Given the description of an element on the screen output the (x, y) to click on. 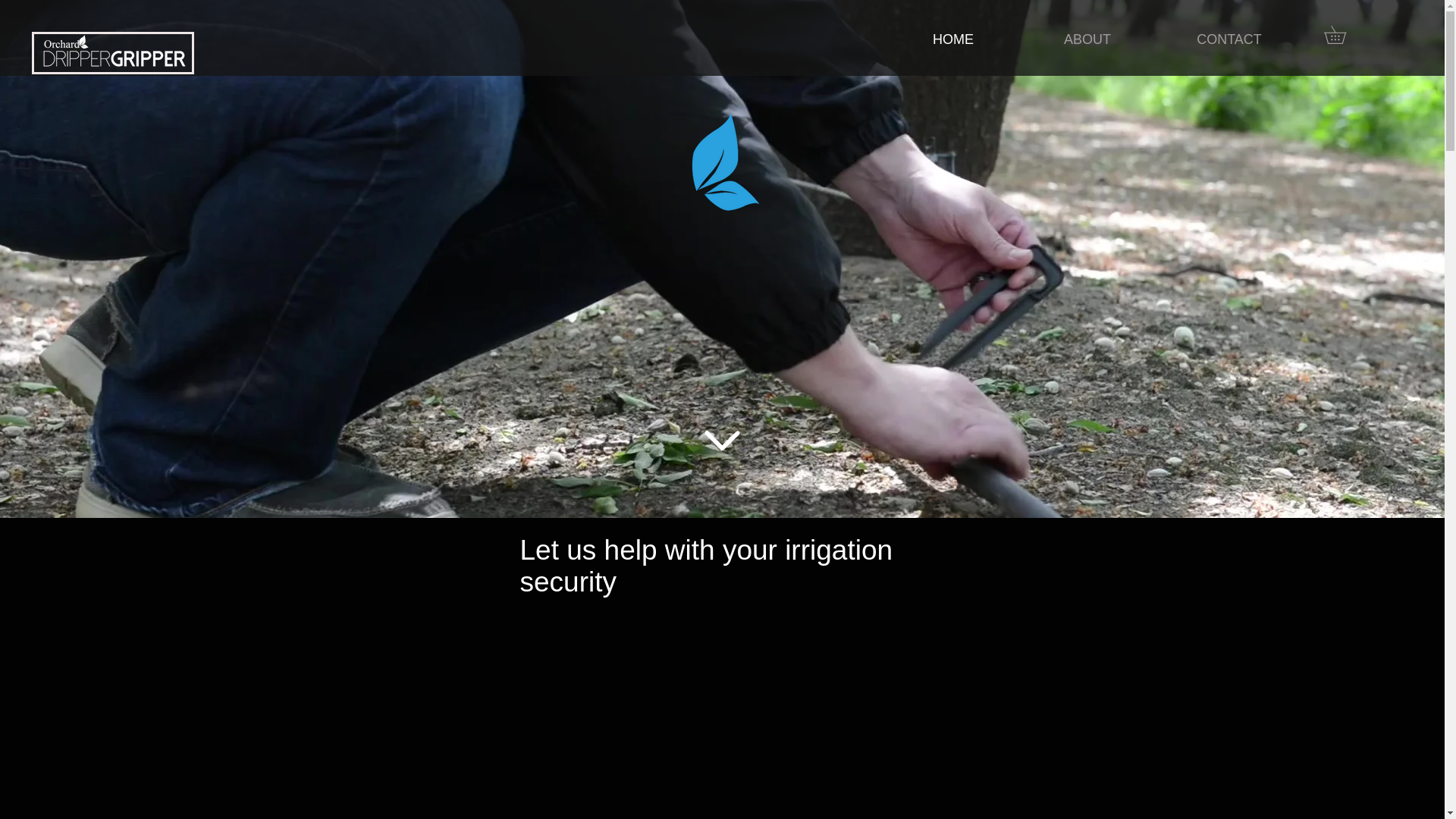
HOME (952, 39)
Dripper Gripper Logo white.png (114, 51)
CONTACT (1229, 39)
ABOUT (1087, 39)
